Given the description of an element on the screen output the (x, y) to click on. 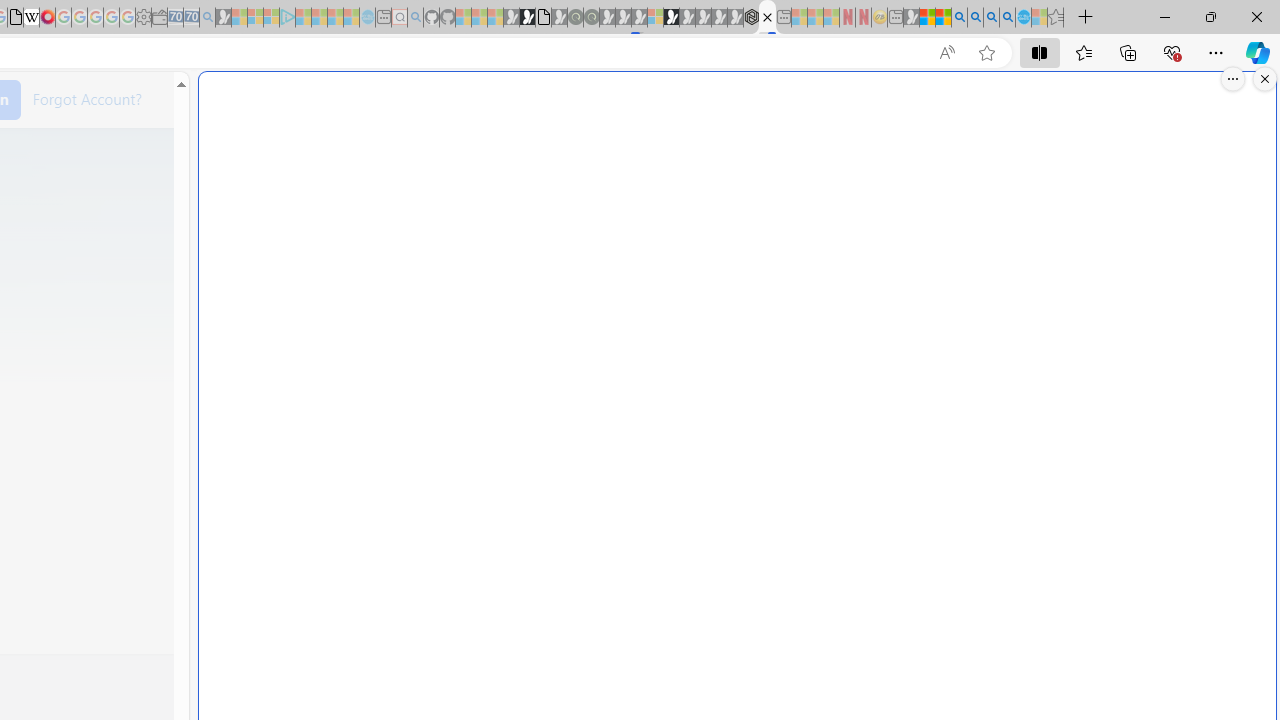
Bing Real Estate - Home sales and rental listings - Sleeping (207, 17)
Target page - Wikipedia (31, 17)
Cheap Car Rentals - Save70.com - Sleeping (191, 17)
Bing AI - Search (959, 17)
MediaWiki (47, 17)
2009 Bing officially replaced Live Search on June 3 - Search (975, 17)
